Given the description of an element on the screen output the (x, y) to click on. 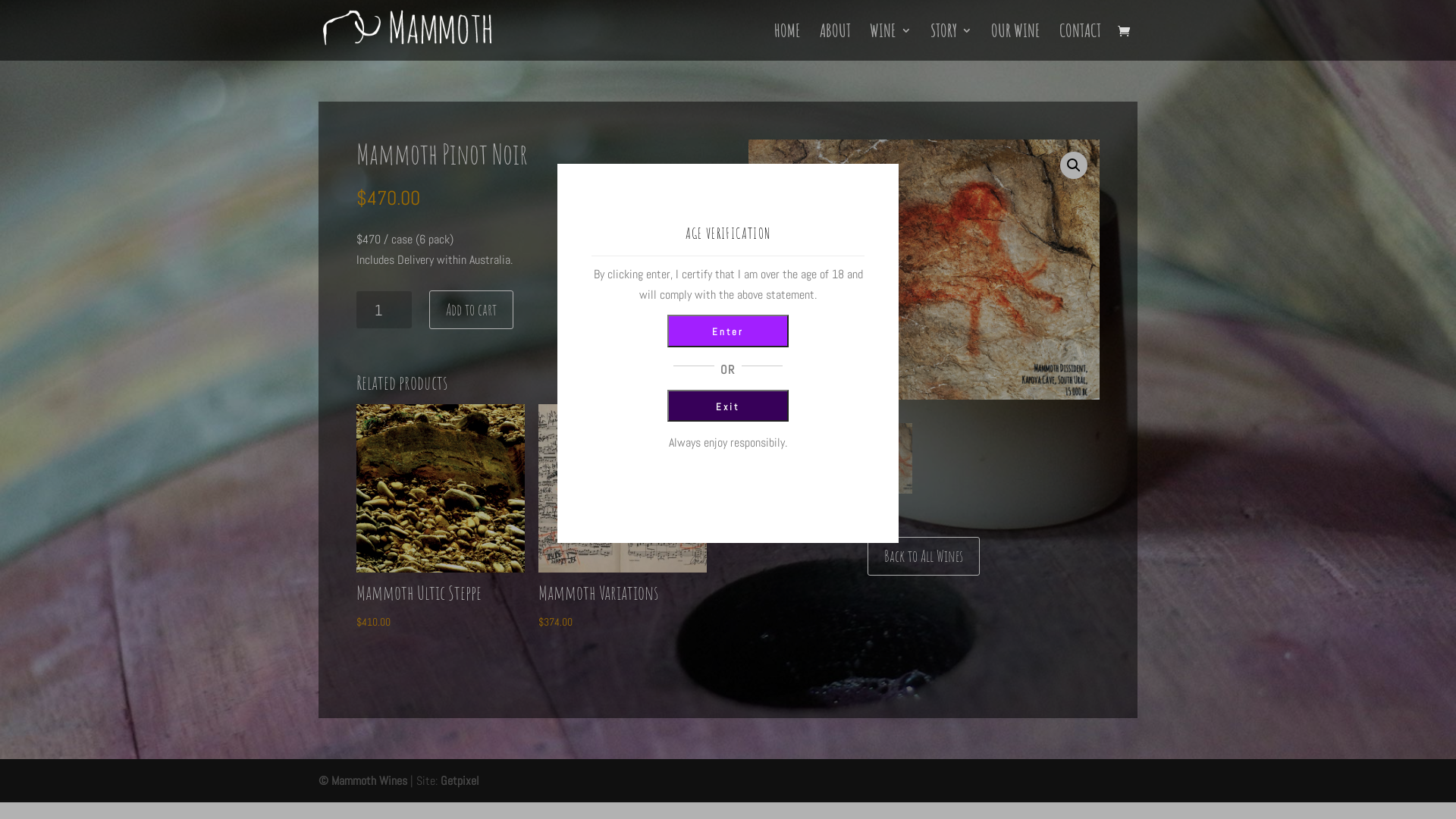
Back to All Wines Element type: text (923, 555)
Mammoth Variations
$374.00 Element type: text (622, 517)
Exit Element type: text (727, 405)
Flabel 15 PN Element type: hover (923, 269)
Enter Element type: text (727, 330)
ABOUT Element type: text (834, 42)
Add to cart Element type: text (471, 309)
Getpixel Element type: text (459, 780)
CONTACT Element type: text (1080, 42)
OUR WINE Element type: text (1015, 42)
STORY Element type: text (951, 42)
Mammoth Ultic Steppe
$410.00 Element type: text (440, 517)
Qty Element type: hover (383, 309)
WINE Element type: text (890, 42)
HOME Element type: text (787, 42)
